Given the description of an element on the screen output the (x, y) to click on. 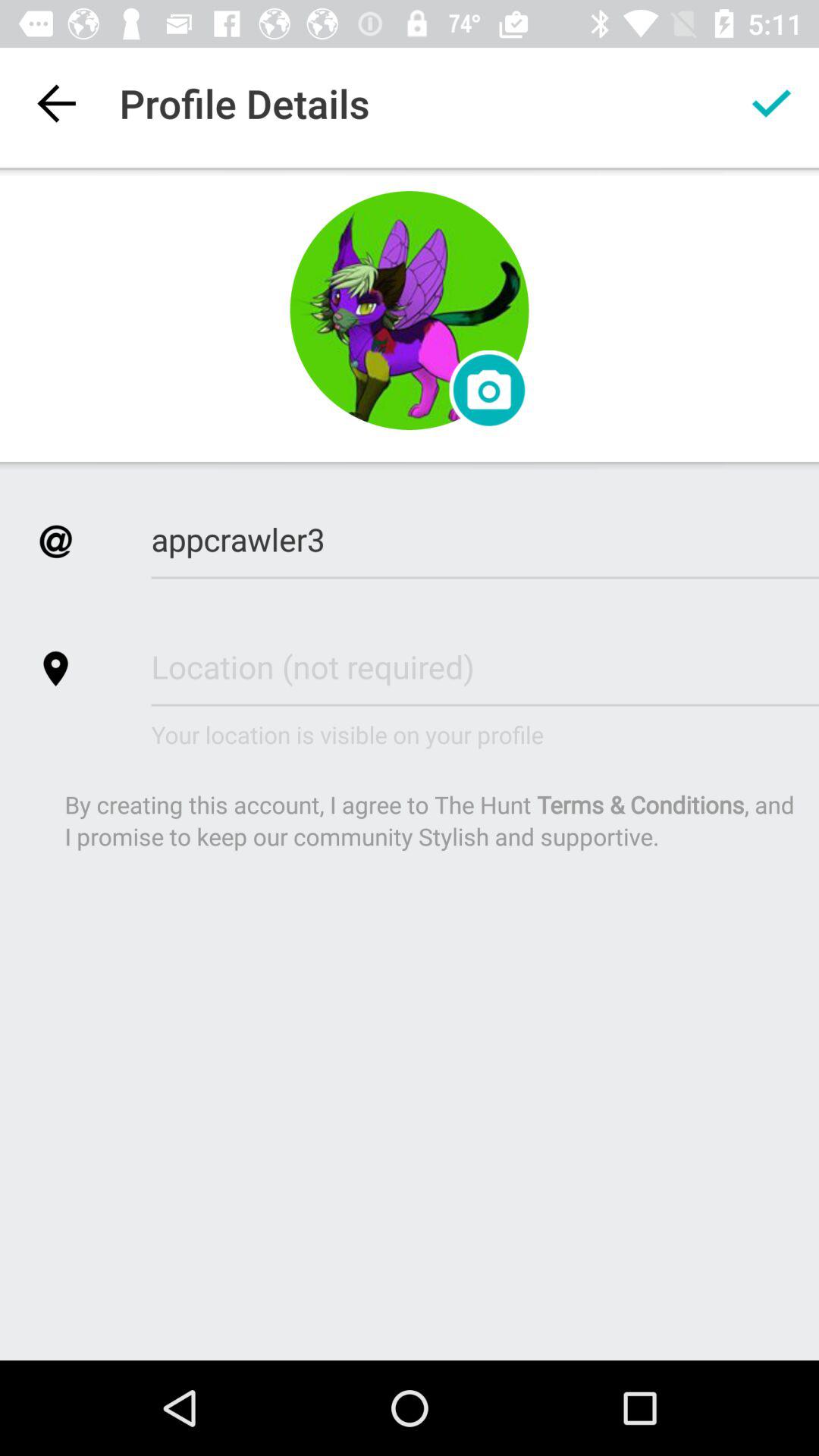
jump until the by creating this (430, 820)
